Given the description of an element on the screen output the (x, y) to click on. 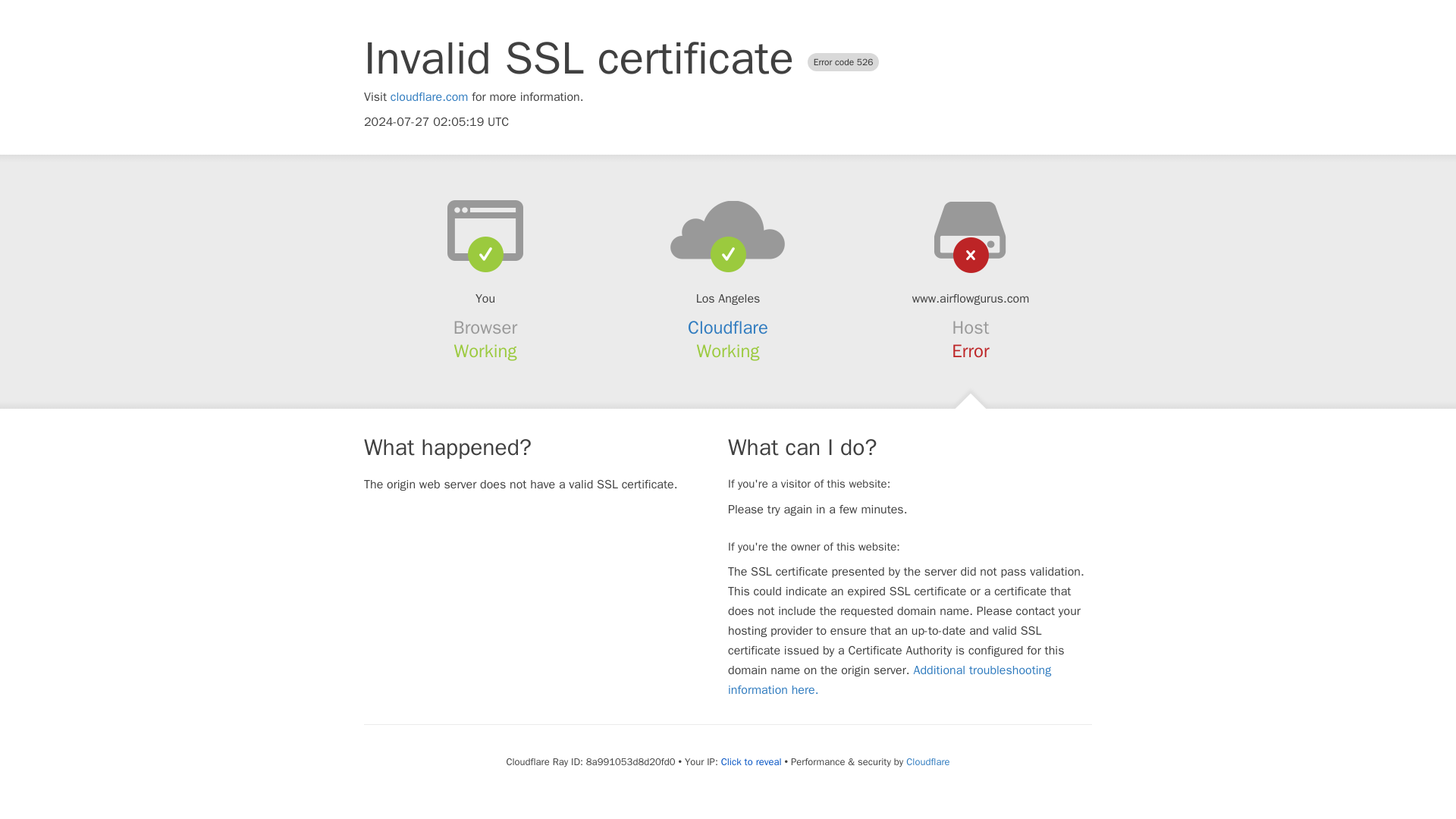
cloudflare.com (429, 96)
Cloudflare (927, 761)
Click to reveal (750, 762)
Additional troubleshooting information here. (889, 679)
Cloudflare (727, 327)
